Given the description of an element on the screen output the (x, y) to click on. 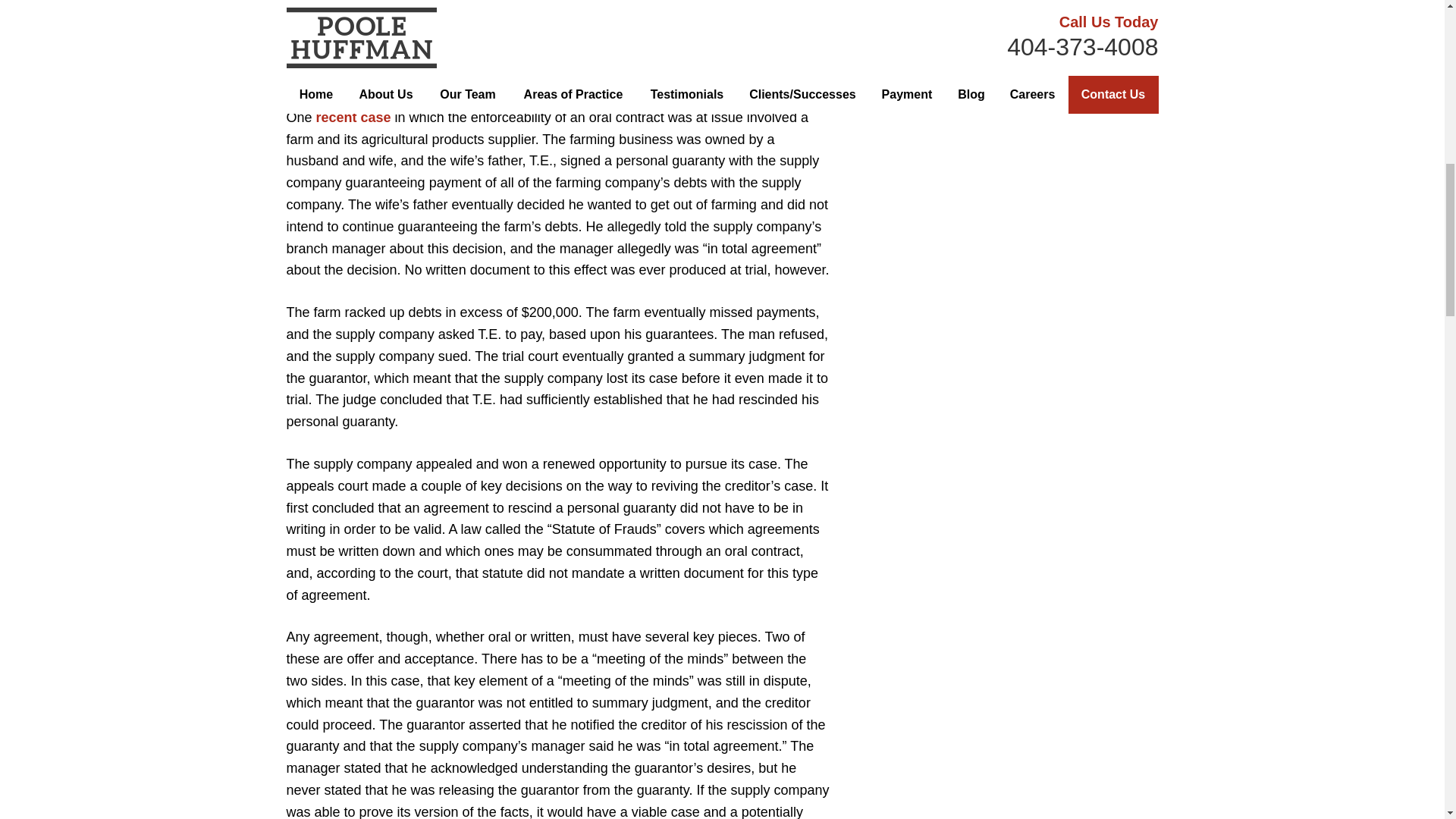
recent case (353, 117)
